Given the description of an element on the screen output the (x, y) to click on. 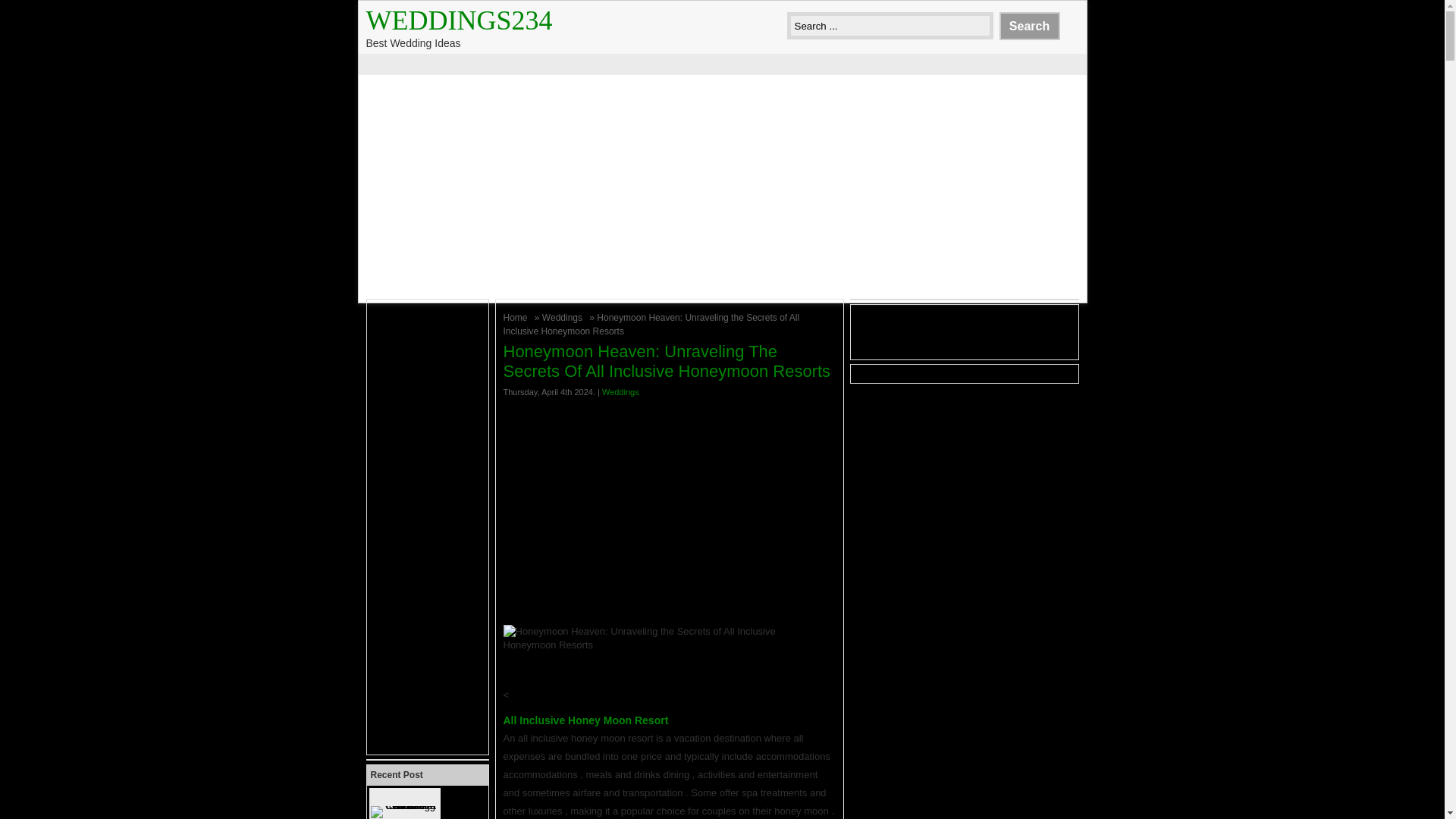
Search (1028, 26)
Search (1028, 26)
WEDDINGS234 (458, 20)
Weddings234 (458, 20)
Weddings (563, 317)
Search ...  (889, 25)
Home (517, 317)
Weddings (620, 391)
Weddings (563, 317)
Unveil The Enchanting Palette: Rust (422, 804)
